Given the description of an element on the screen output the (x, y) to click on. 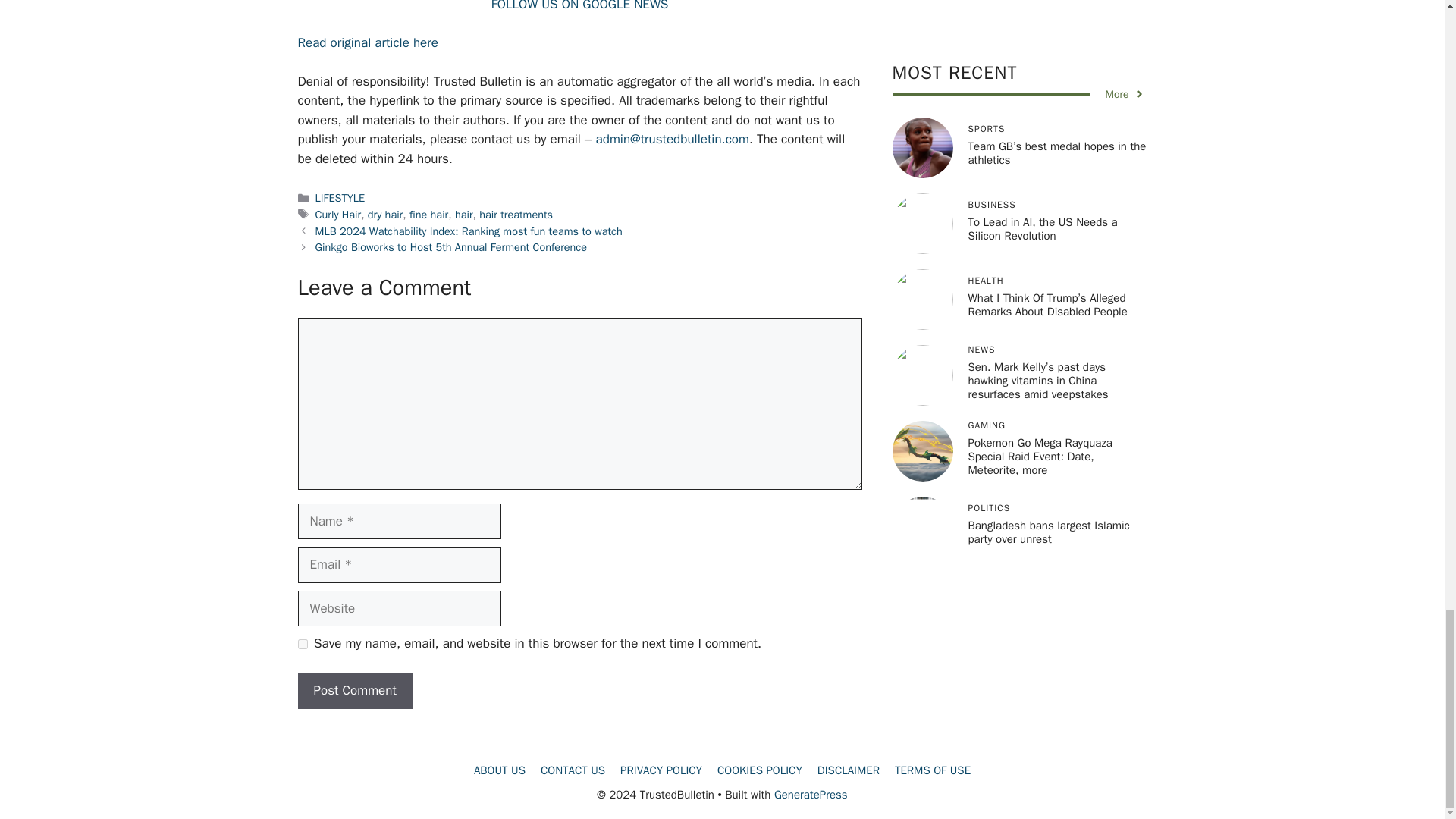
Ginkgo Bioworks to Host 5th Annual Ferment Conference (450, 246)
hair (463, 214)
yes (302, 644)
LIFESTYLE (340, 197)
MLB 2024 Watchability Index: Ranking most fun teams to watch (469, 231)
Post Comment (354, 690)
dry hair (385, 214)
FOLLOW US ON GOOGLE NEWS (580, 6)
Curly Hair (338, 214)
hair treatments (516, 214)
